Given the description of an element on the screen output the (x, y) to click on. 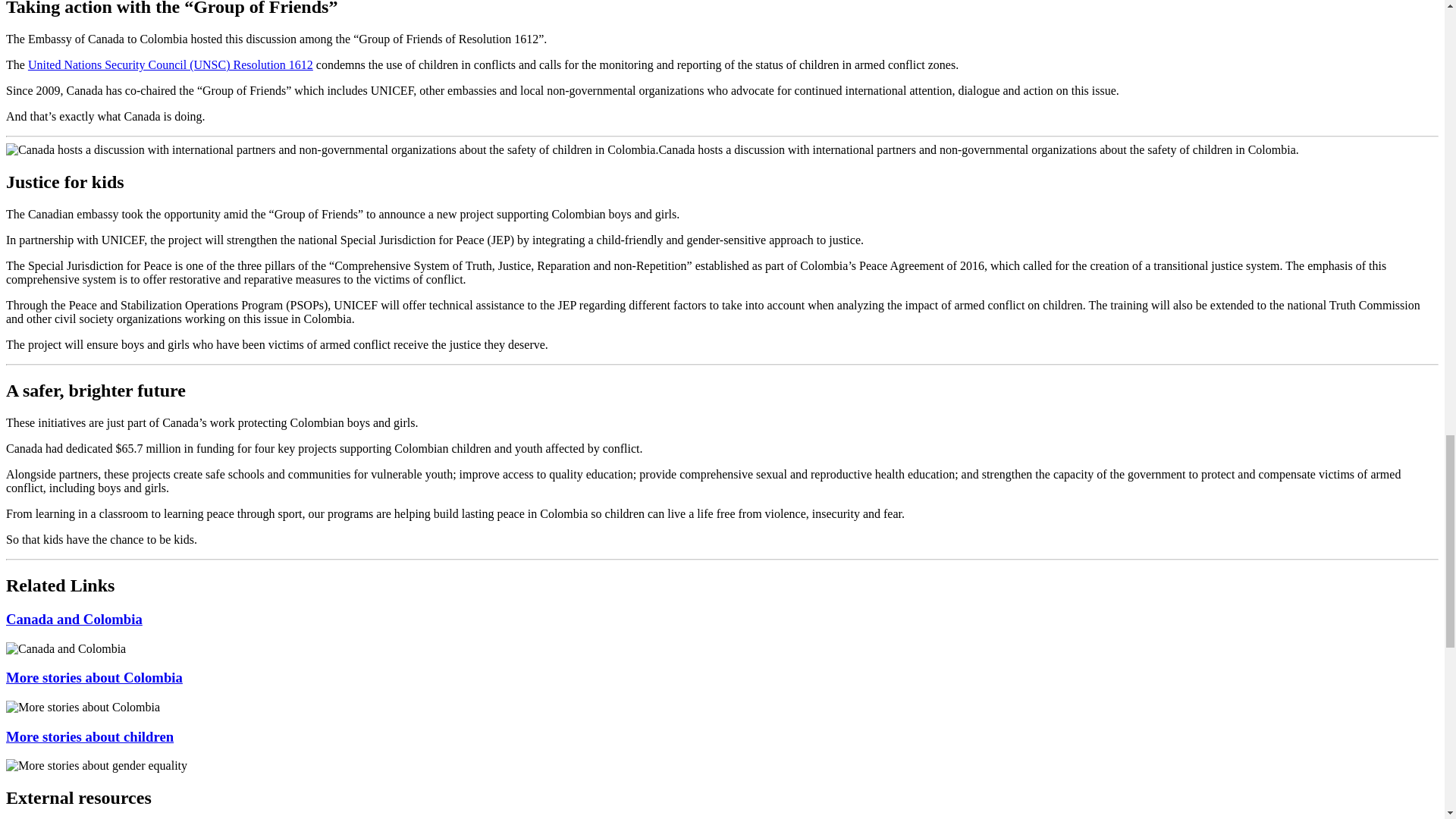
Canada and Colombia (73, 618)
More stories about children (89, 736)
More stories about Colombia (94, 677)
